Given the description of an element on the screen output the (x, y) to click on. 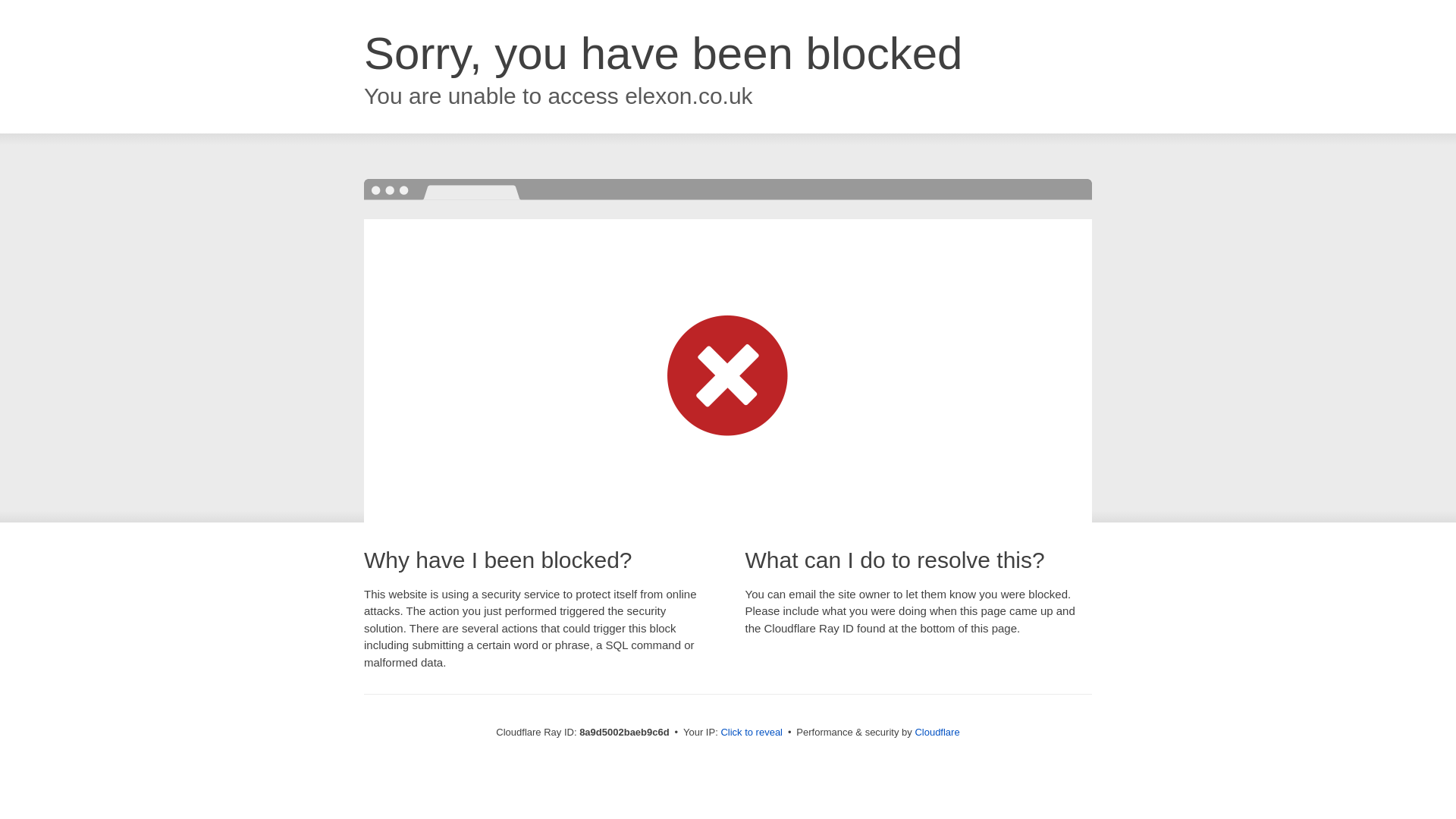
Cloudflare (936, 731)
Click to reveal (751, 732)
